Given the description of an element on the screen output the (x, y) to click on. 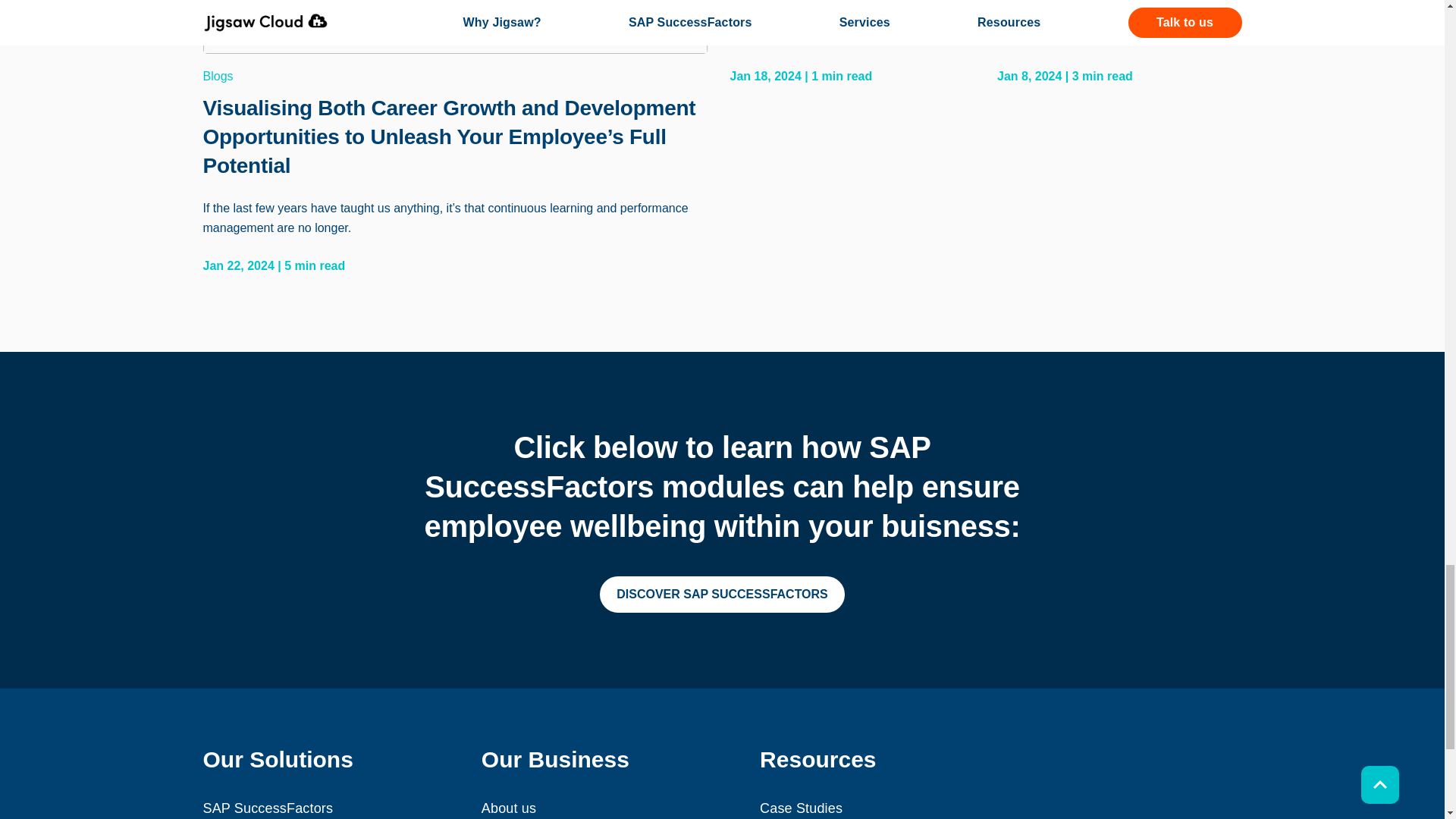
Blogs (455, 76)
DISCOVER SAP SUCCESSFACTORS (721, 594)
SAP SuccessFactors (268, 807)
